Given the description of an element on the screen output the (x, y) to click on. 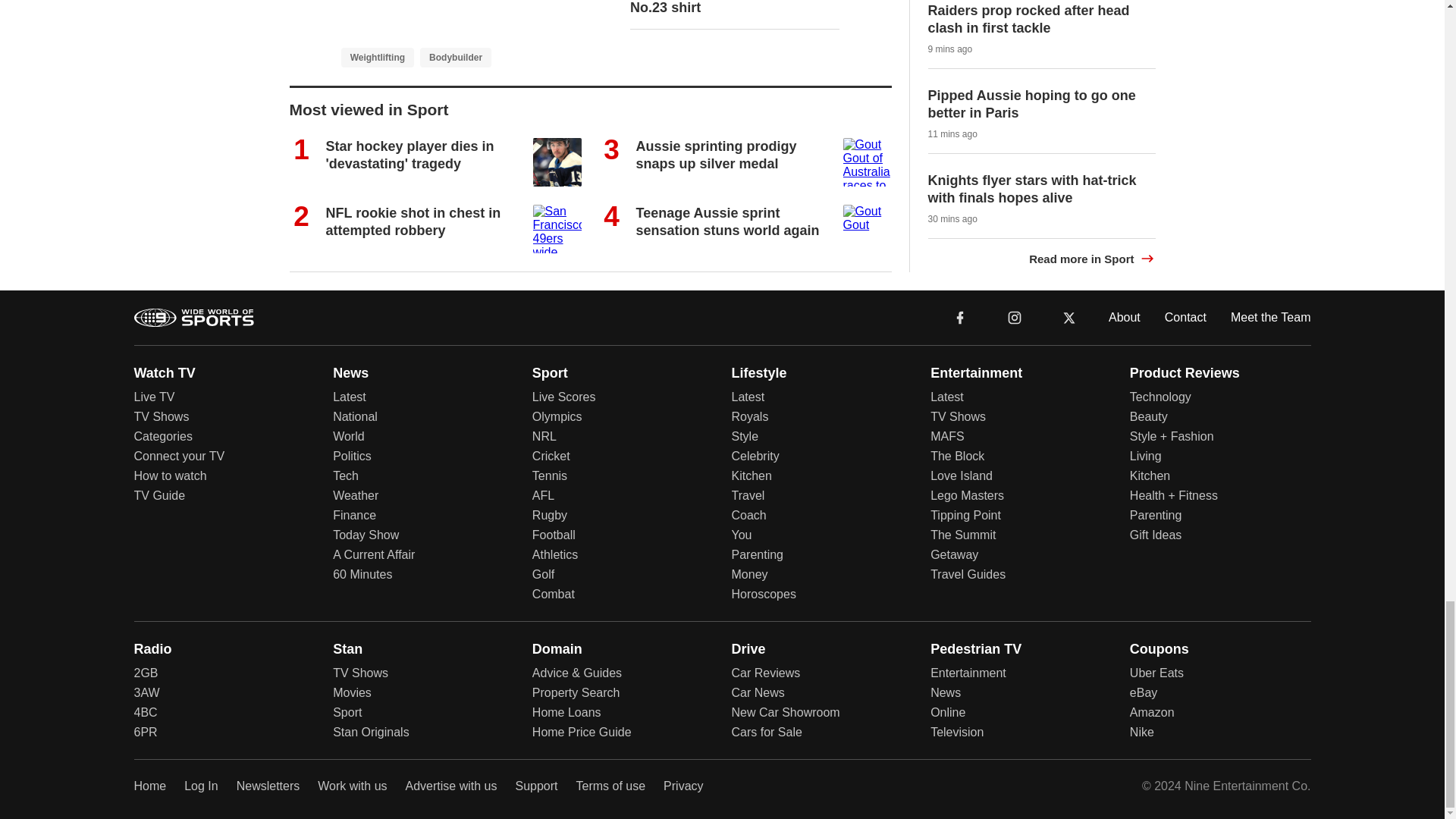
x (1069, 316)
facebook (960, 317)
instagram (1014, 317)
facebook (959, 316)
instagram (1013, 316)
x (1069, 317)
